Given the description of an element on the screen output the (x, y) to click on. 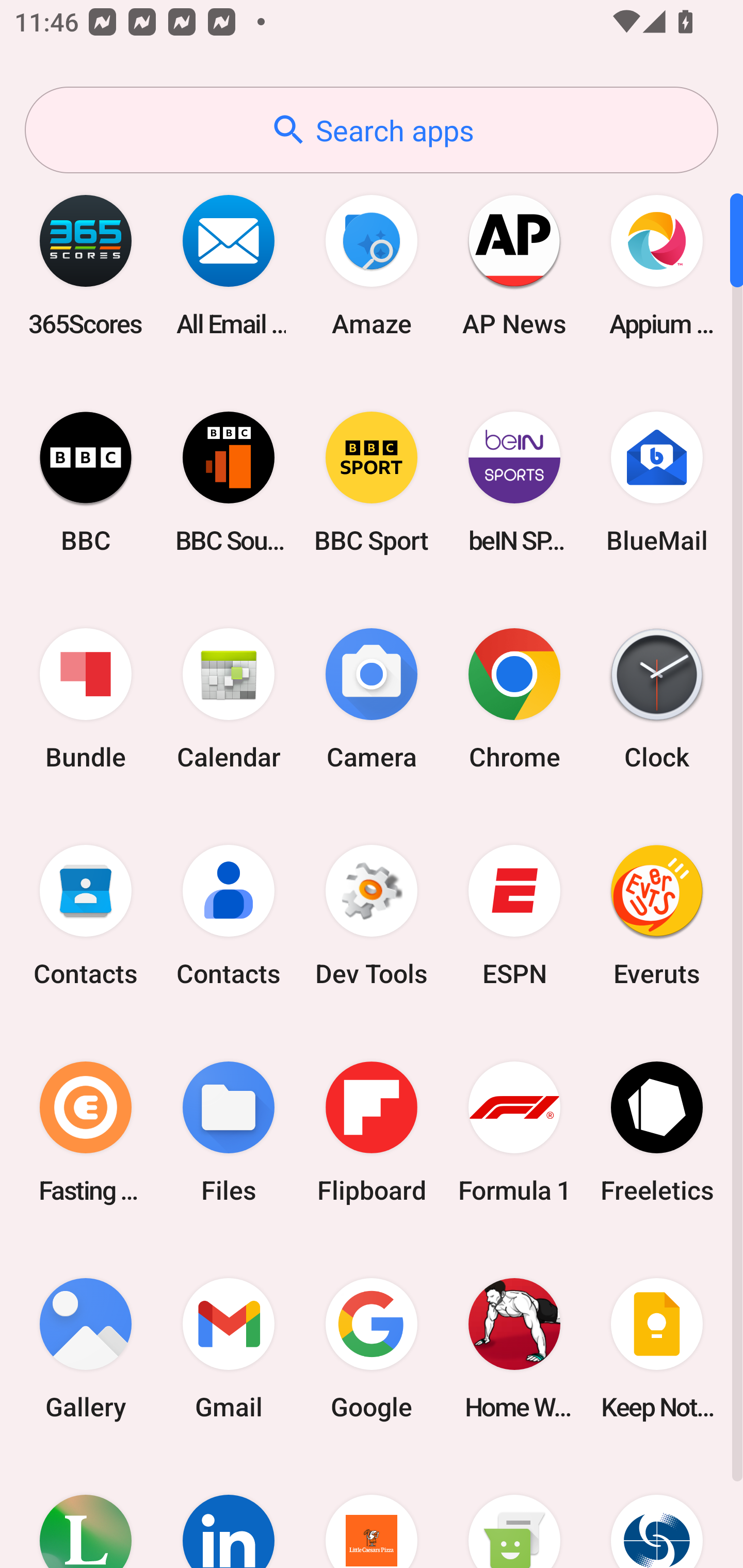
  Search apps (371, 130)
365Scores (85, 264)
All Email Connect (228, 264)
Amaze (371, 264)
AP News (514, 264)
Appium Settings (656, 264)
BBC (85, 482)
BBC Sounds (228, 482)
BBC Sport (371, 482)
beIN SPORTS (514, 482)
BlueMail (656, 482)
Bundle (85, 699)
Calendar (228, 699)
Camera (371, 699)
Chrome (514, 699)
Clock (656, 699)
Contacts (85, 915)
Contacts (228, 915)
Dev Tools (371, 915)
ESPN (514, 915)
Everuts (656, 915)
Fasting Coach (85, 1131)
Files (228, 1131)
Flipboard (371, 1131)
Formula 1 (514, 1131)
Freeletics (656, 1131)
Gallery (85, 1348)
Gmail (228, 1348)
Google (371, 1348)
Home Workout (514, 1348)
Keep Notes (656, 1348)
Lifesum (85, 1512)
LinkedIn (228, 1512)
Little Caesars Pizza (371, 1512)
Messaging (514, 1512)
MyObservatory (656, 1512)
